Given the description of an element on the screen output the (x, y) to click on. 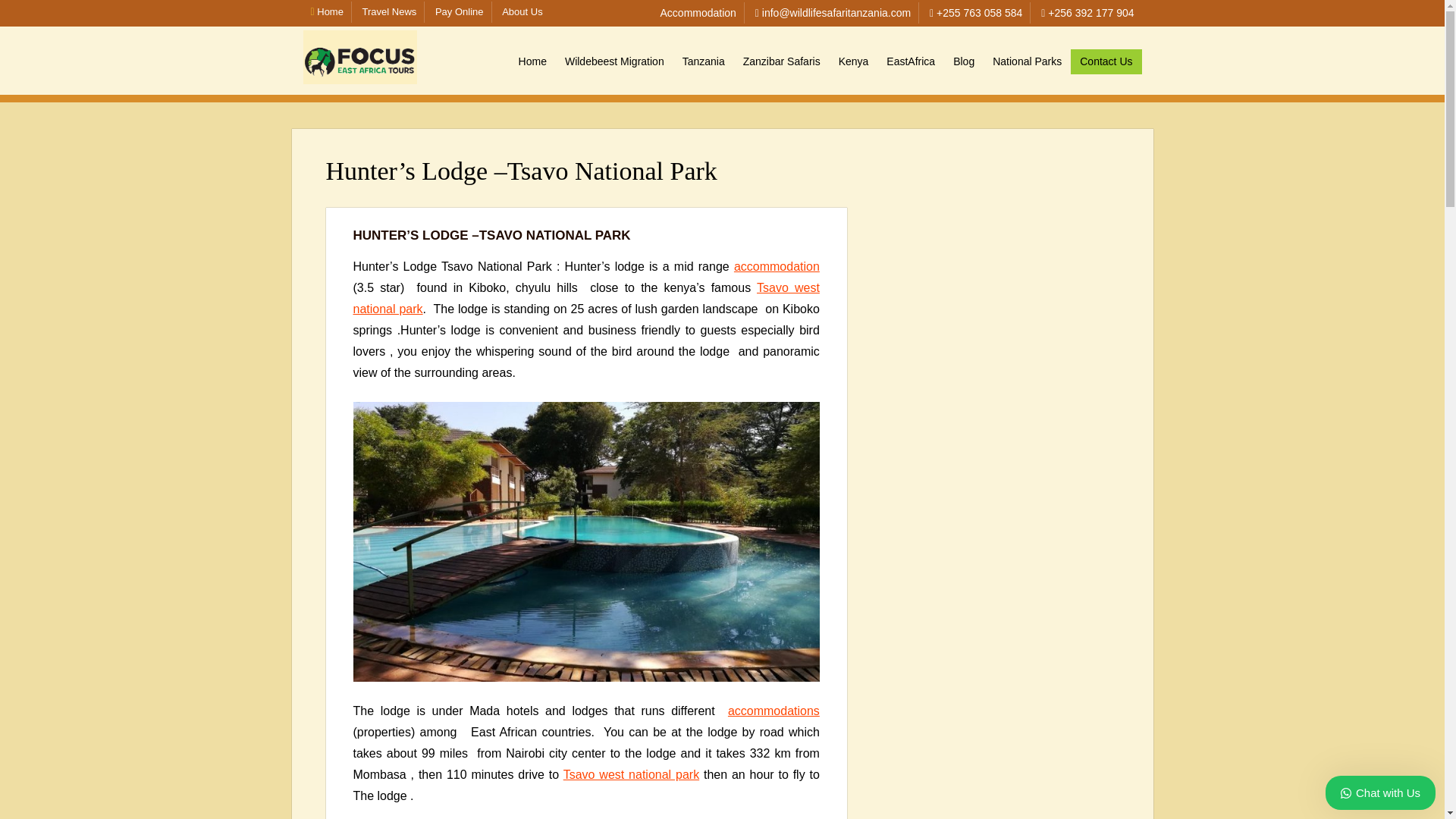
Tsavo west national park (586, 298)
Pay Online (459, 11)
Home (327, 11)
About Us (521, 11)
accommodation (776, 266)
Home (532, 61)
Travel News (389, 11)
Kenya (853, 61)
Tanzania (702, 61)
Zanzibar Safaris (781, 61)
